Given the description of an element on the screen output the (x, y) to click on. 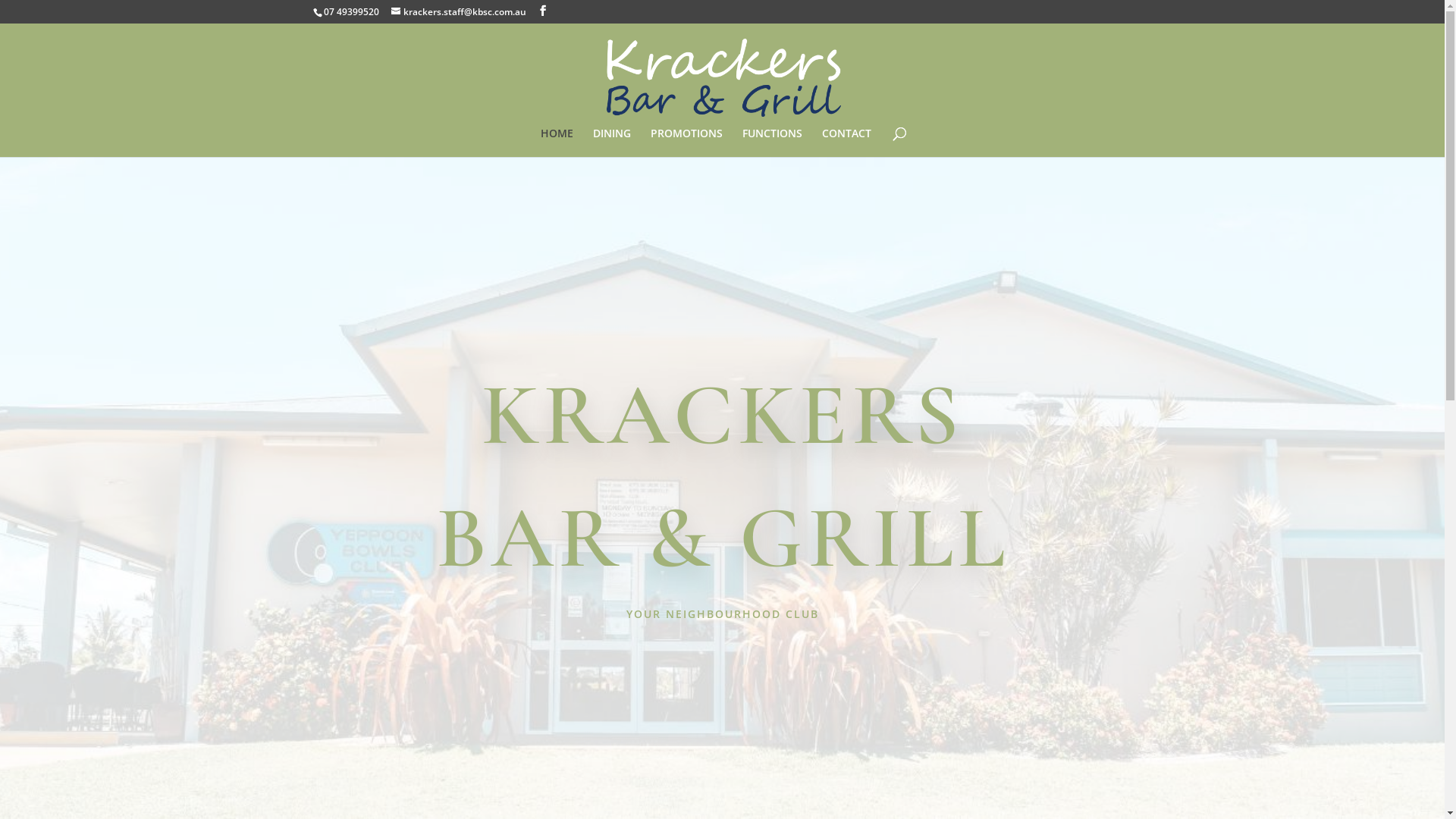
DINING Element type: text (611, 142)
CONTACT Element type: text (846, 142)
krackers.staff@kbsc.com.au Element type: text (458, 11)
HOME Element type: text (555, 142)
PROMOTIONS Element type: text (686, 142)
FUNCTIONS Element type: text (771, 142)
